Given the description of an element on the screen output the (x, y) to click on. 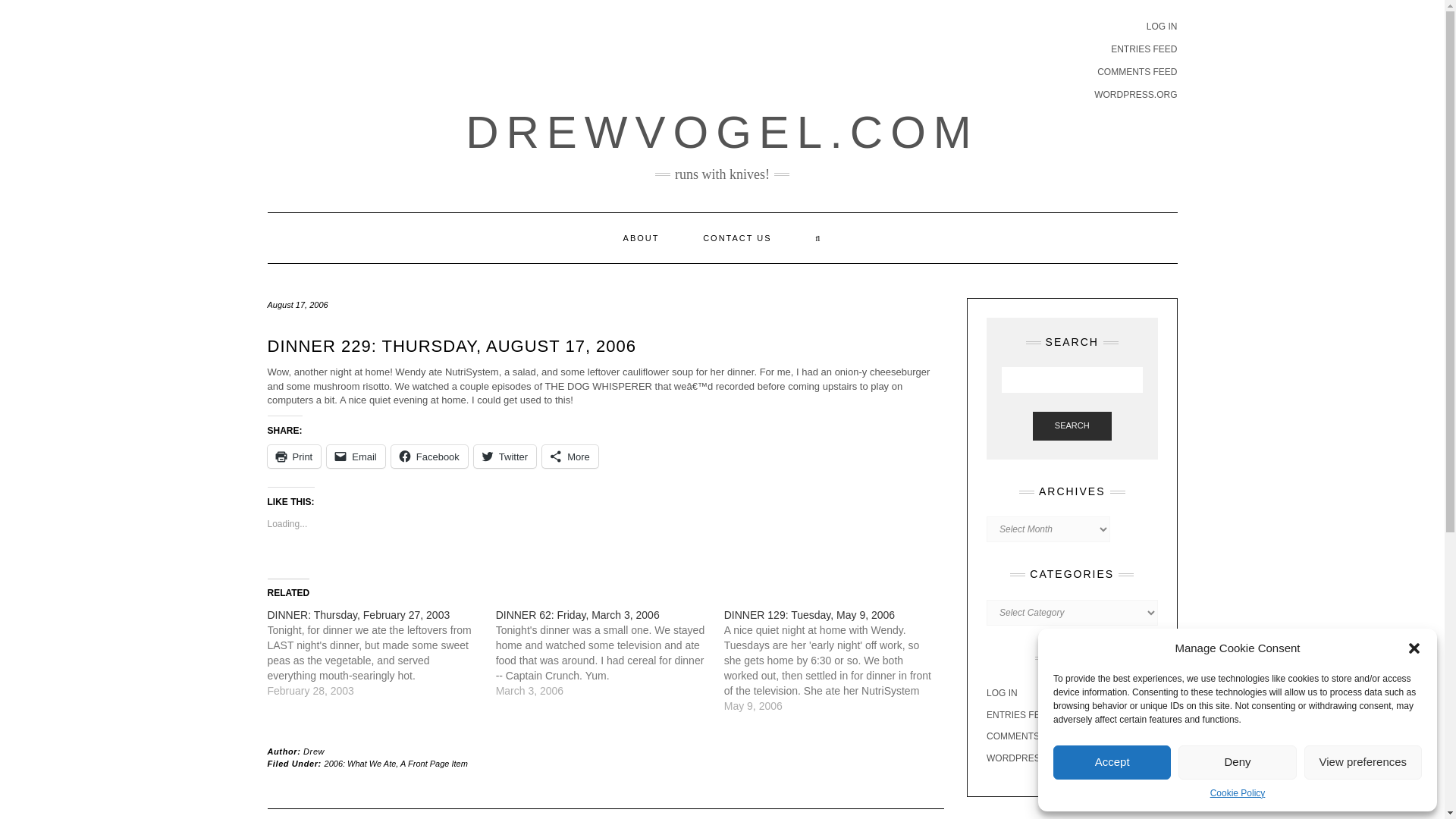
Drew (313, 750)
DINNER 62: Friday, March 3, 2006 (577, 614)
DINNER: Thursday, February 27, 2003 (380, 652)
Deny (1236, 762)
2006: What We Ate (360, 763)
DREWVOGEL.COM (721, 132)
DINNER 62: Friday, March 3, 2006 (609, 652)
Click to print (293, 456)
WORDPRESS.ORG (1135, 94)
ABOUT (640, 237)
Click to share on Facebook (429, 456)
DINNER: Thursday, February 27, 2003 (357, 614)
DINNER 62: Friday, March 3, 2006 (577, 614)
DINNER: Thursday, February 27, 2003 (357, 614)
LOG IN (1162, 26)
